Given the description of an element on the screen output the (x, y) to click on. 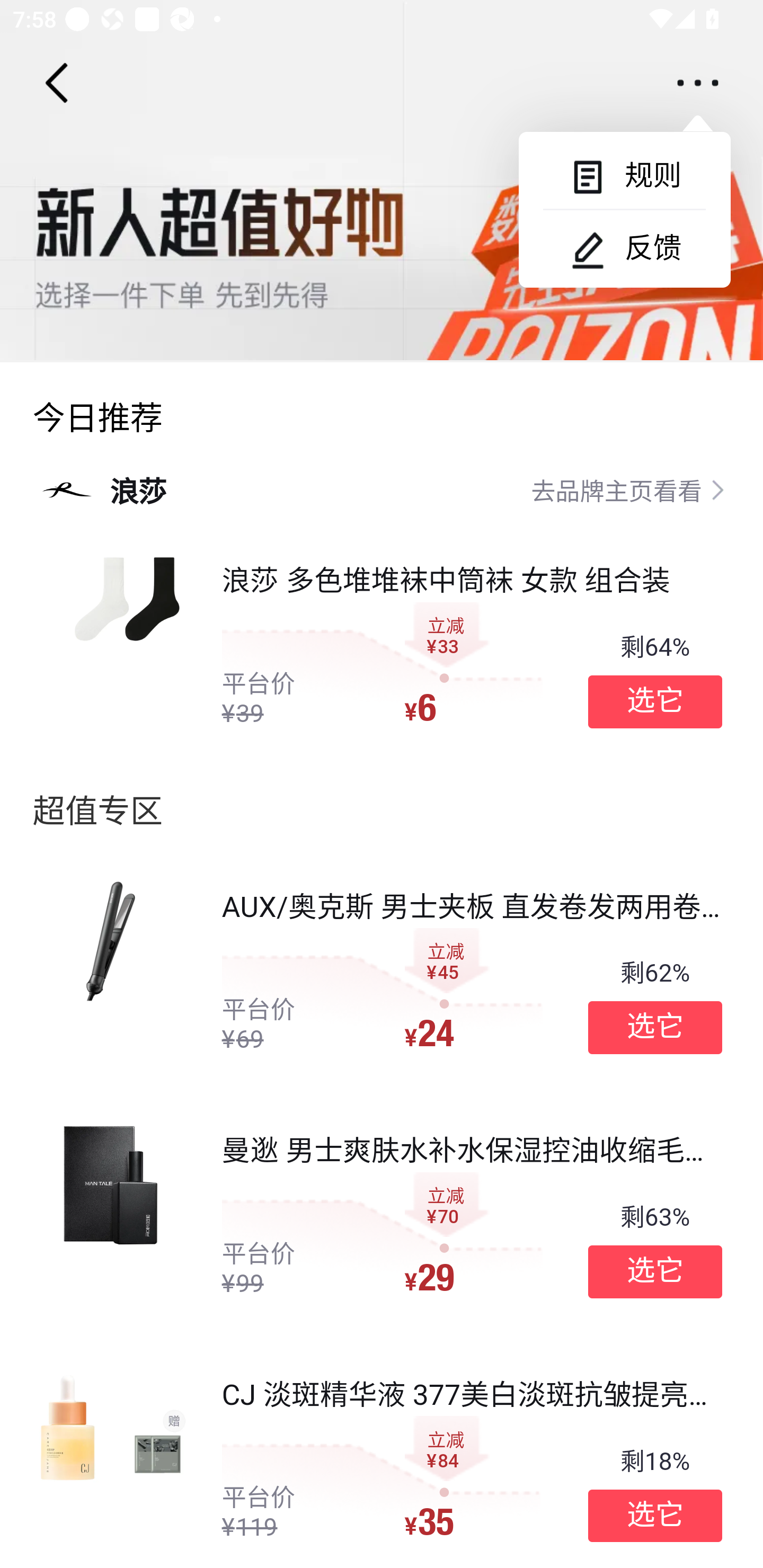
规则 (624, 176)
反馈 (624, 248)
浪莎去品牌主页看看 (381, 489)
浪莎 多色堆堆袜中筒袜 女款 组合装 平台价 ¥ 39 立减¥33 ¥ 6 剩64% 选它 (397, 646)
选它 (654, 701)
选它 (654, 1027)
选它 (654, 1271)
选它 (654, 1515)
